Given the description of an element on the screen output the (x, y) to click on. 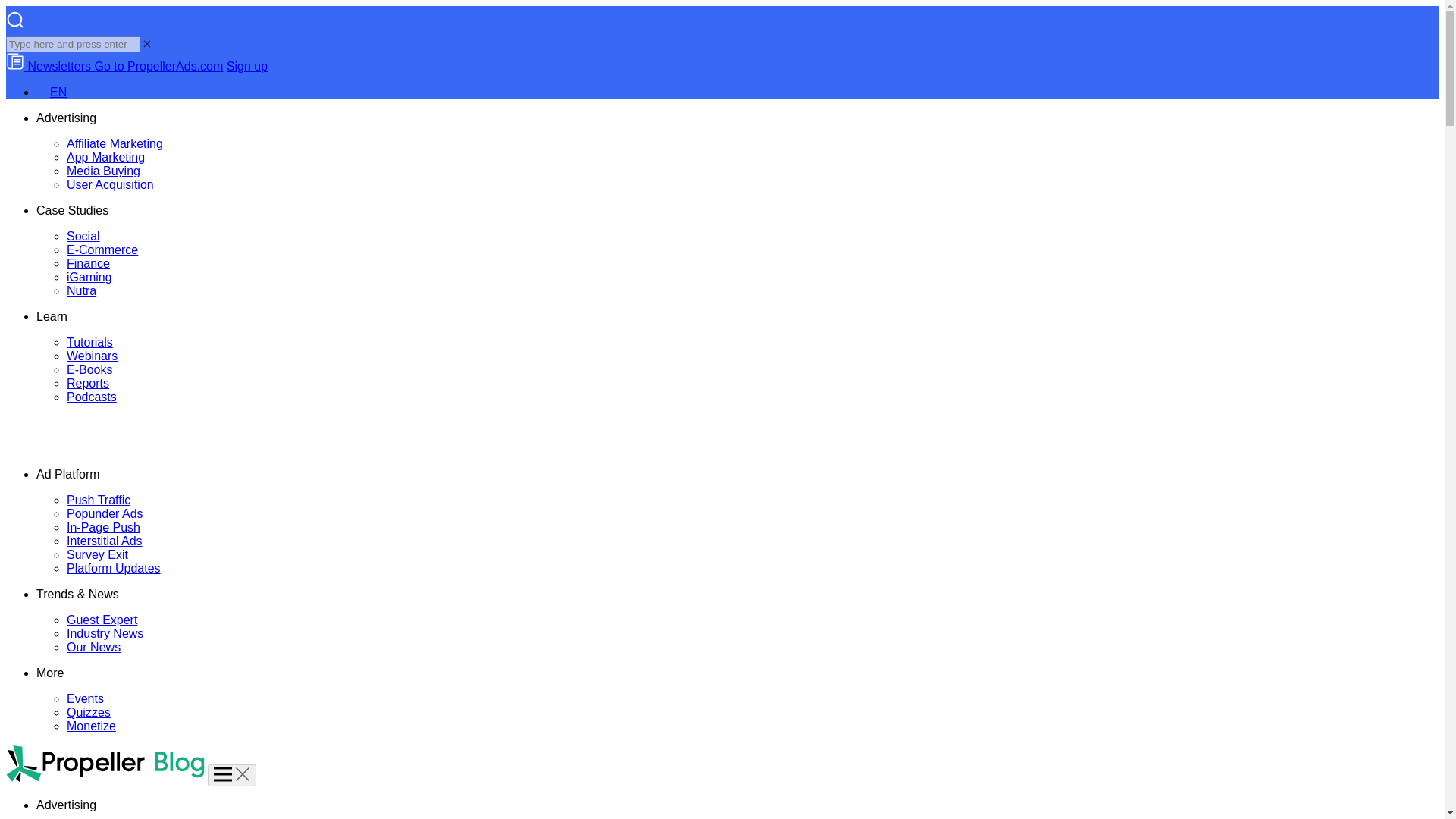
EN (51, 91)
Interstitial Ads (104, 540)
Tutorials (89, 341)
PropellerAds Blog main page. (105, 448)
Events (84, 698)
Affiliate Marketing (114, 143)
In-Page Push (102, 526)
Quizzes (88, 712)
Monetize (91, 725)
Media Buying (102, 170)
Social (83, 236)
E-Books (89, 369)
Our News (93, 646)
User Acquisition (110, 184)
Sign up (247, 65)
